Given the description of an element on the screen output the (x, y) to click on. 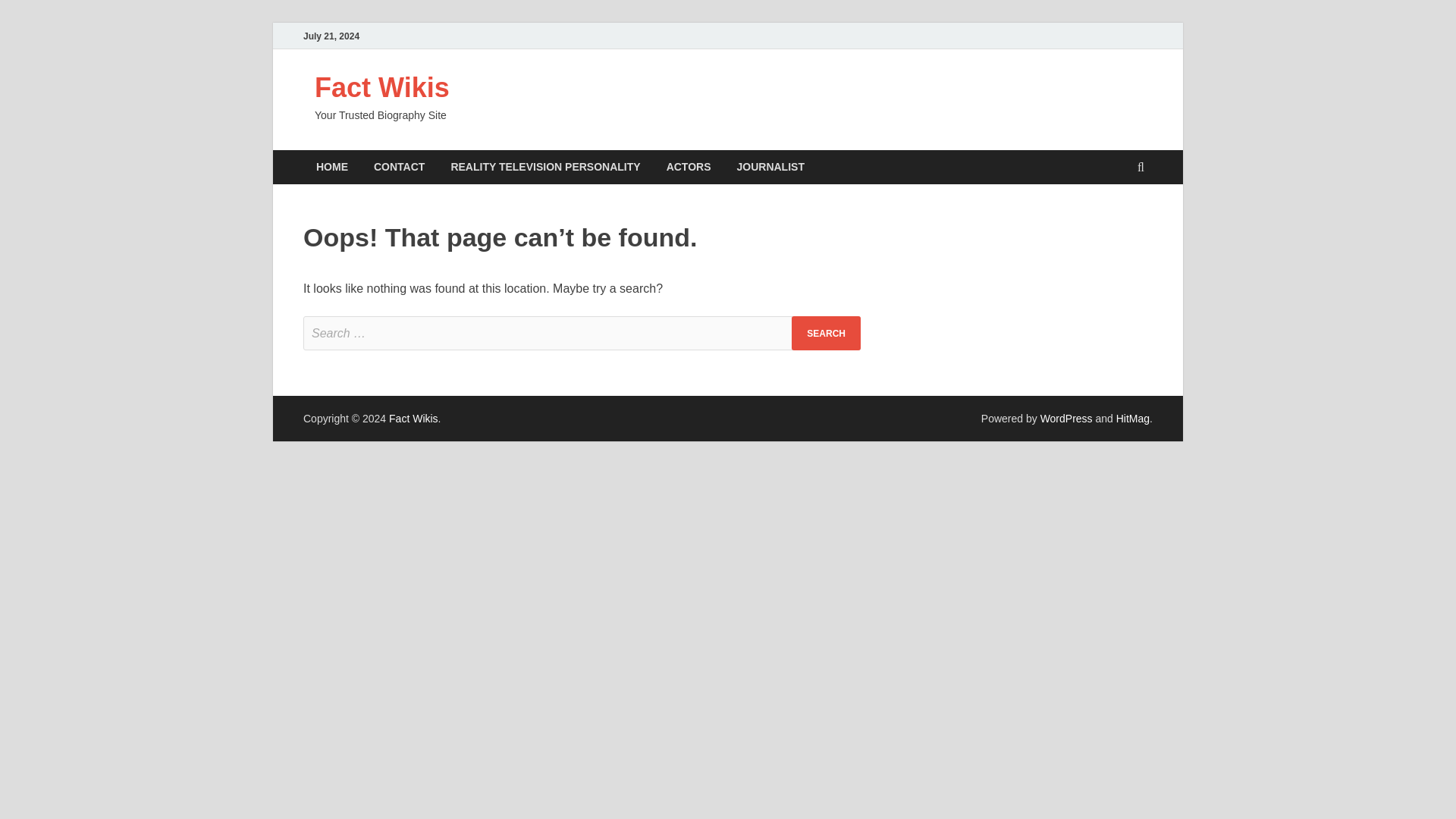
REALITY TELEVISION PERSONALITY (545, 166)
ACTORS (688, 166)
Search (826, 333)
CONTACT (399, 166)
JOURNALIST (769, 166)
Search (826, 333)
HOME (331, 166)
Search (826, 333)
Fact Wikis (381, 87)
